Given the description of an element on the screen output the (x, y) to click on. 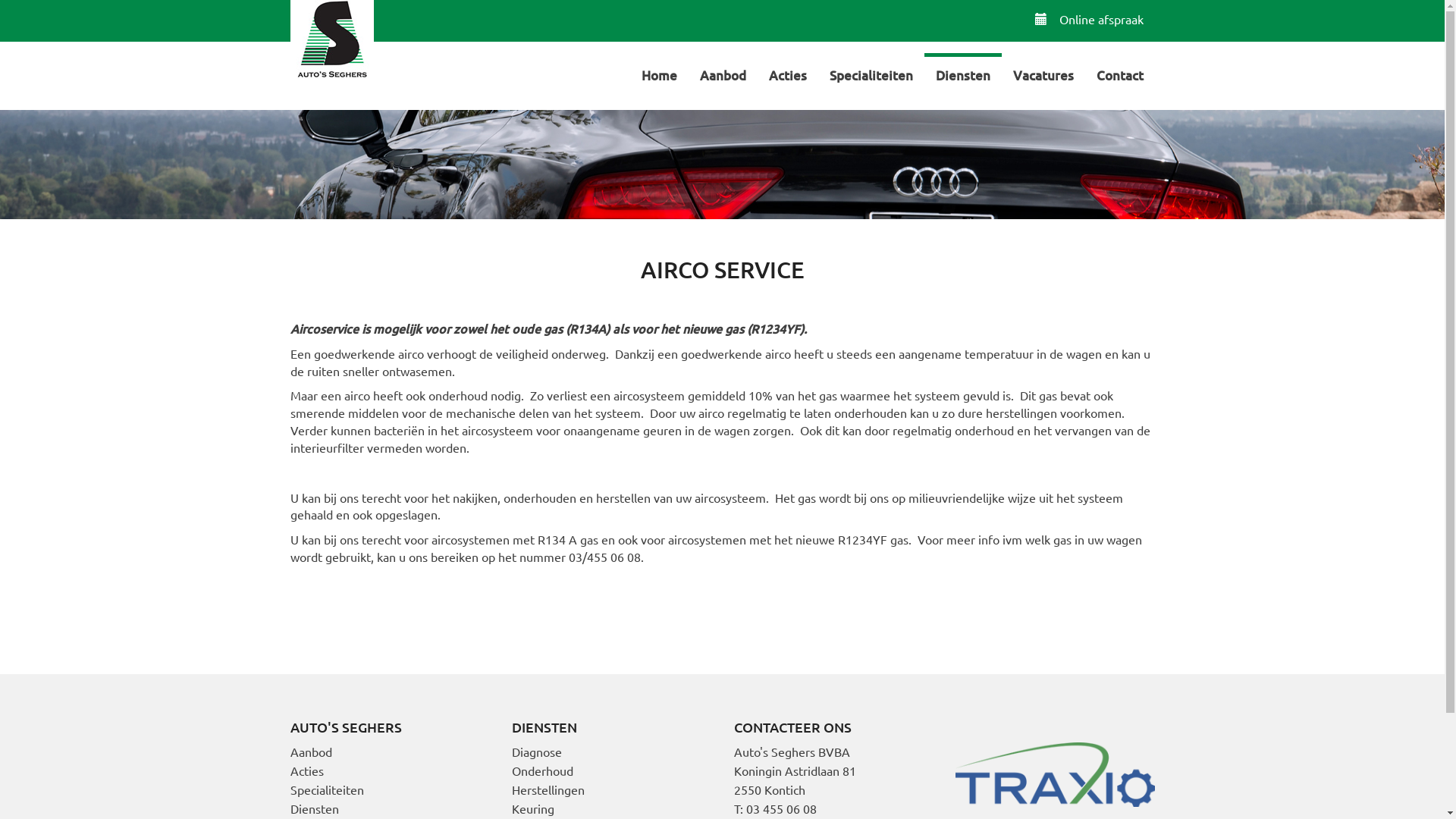
Home Element type: text (658, 73)
Specialiteiten Element type: text (870, 73)
Vacatures Element type: text (1042, 73)
Herstellingen Element type: text (547, 789)
Specialiteiten Element type: text (326, 789)
Diensten Element type: text (313, 807)
Acties Element type: text (786, 73)
Aanbod Element type: text (310, 751)
Diagnose Element type: text (536, 751)
Aanbod Element type: text (722, 73)
home Element type: hover (331, 41)
Acties Element type: text (306, 770)
Contact Element type: text (1119, 73)
Onderhoud Element type: text (542, 770)
Keuring Element type: text (532, 807)
 Online afspraak Element type: text (1088, 18)
Diensten Element type: text (962, 73)
Lid van Traxio Element type: hover (1054, 771)
